Given the description of an element on the screen output the (x, y) to click on. 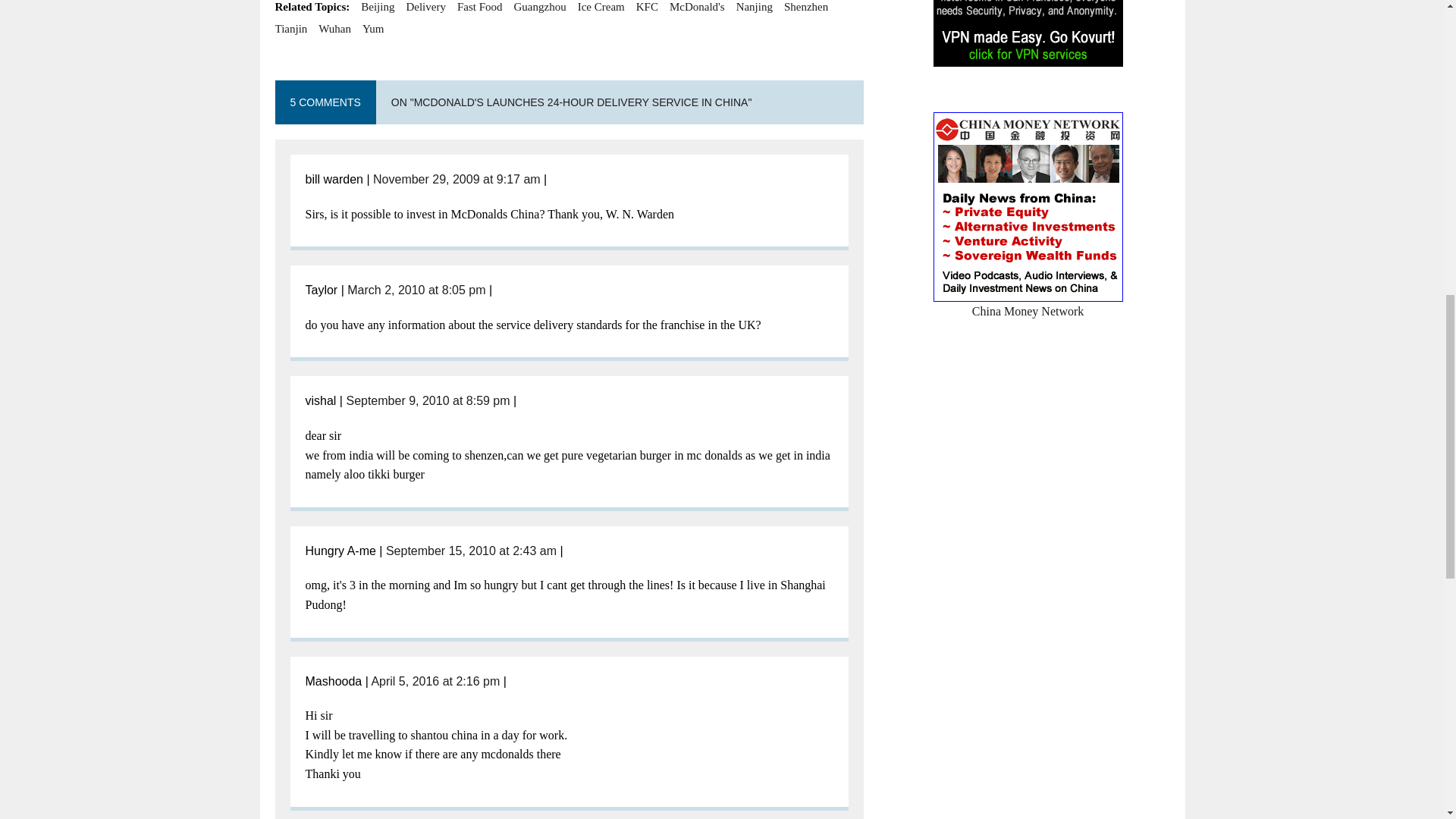
September 9, 2010 at 8:59 pm (427, 400)
China Money Network - Finance and Investment News Daily (1027, 301)
Tianjin (291, 28)
Yum (373, 28)
Delivery (425, 7)
McDonald'S (697, 7)
Guangzhou (539, 7)
September 15, 2010 at 2:43 am (470, 550)
Wuhan (334, 28)
Shenzhen (806, 7)
March 2, 2010 at 8:05 pm (415, 289)
Nanjing (754, 7)
November 29, 2009 at 9:17 am (456, 178)
Ice Cream (601, 7)
KFC (647, 7)
